Given the description of an element on the screen output the (x, y) to click on. 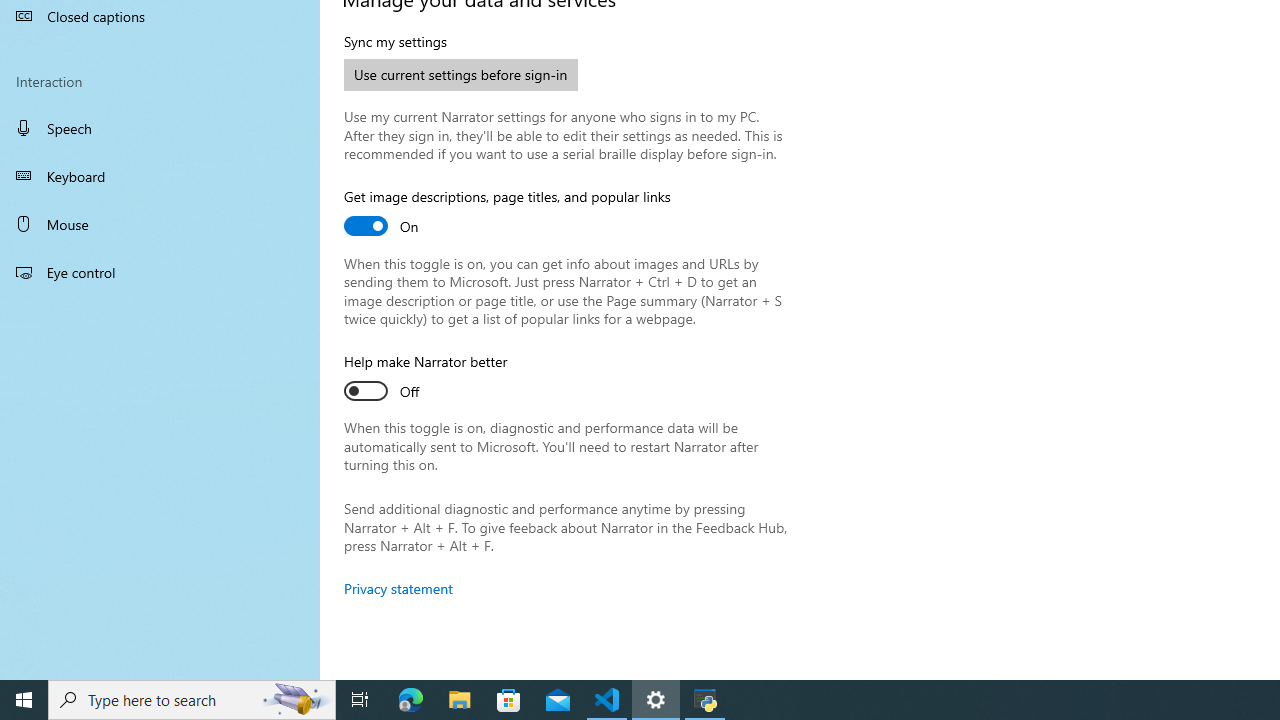
Search highlights icon opens search home window (295, 699)
Get image descriptions, page titles, and popular links (507, 214)
Eye control (160, 271)
Speech (160, 127)
Start (24, 699)
File Explorer (460, 699)
Help make Narrator better (426, 379)
Mouse (160, 223)
Task View (359, 699)
Settings - 1 running window (656, 699)
Type here to search (191, 699)
Microsoft Edge (411, 699)
Keyboard (160, 175)
Visual Studio Code - 1 running window (607, 699)
Use current settings before sign-in (461, 74)
